Given the description of an element on the screen output the (x, y) to click on. 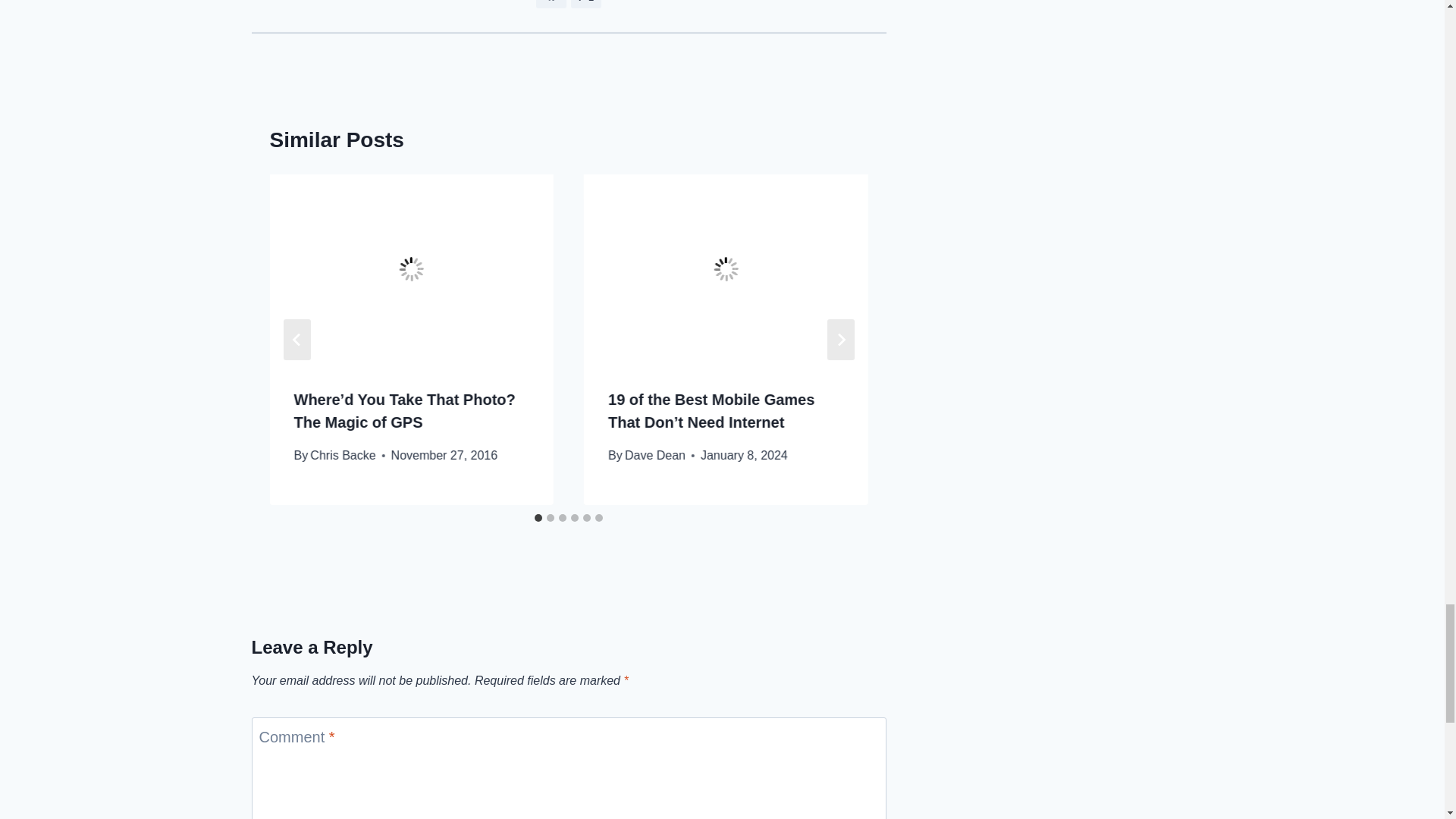
Follow Dave Dean on X formerly Twitter (585, 4)
Follow Dave Dean on Facebook (550, 4)
